Given the description of an element on the screen output the (x, y) to click on. 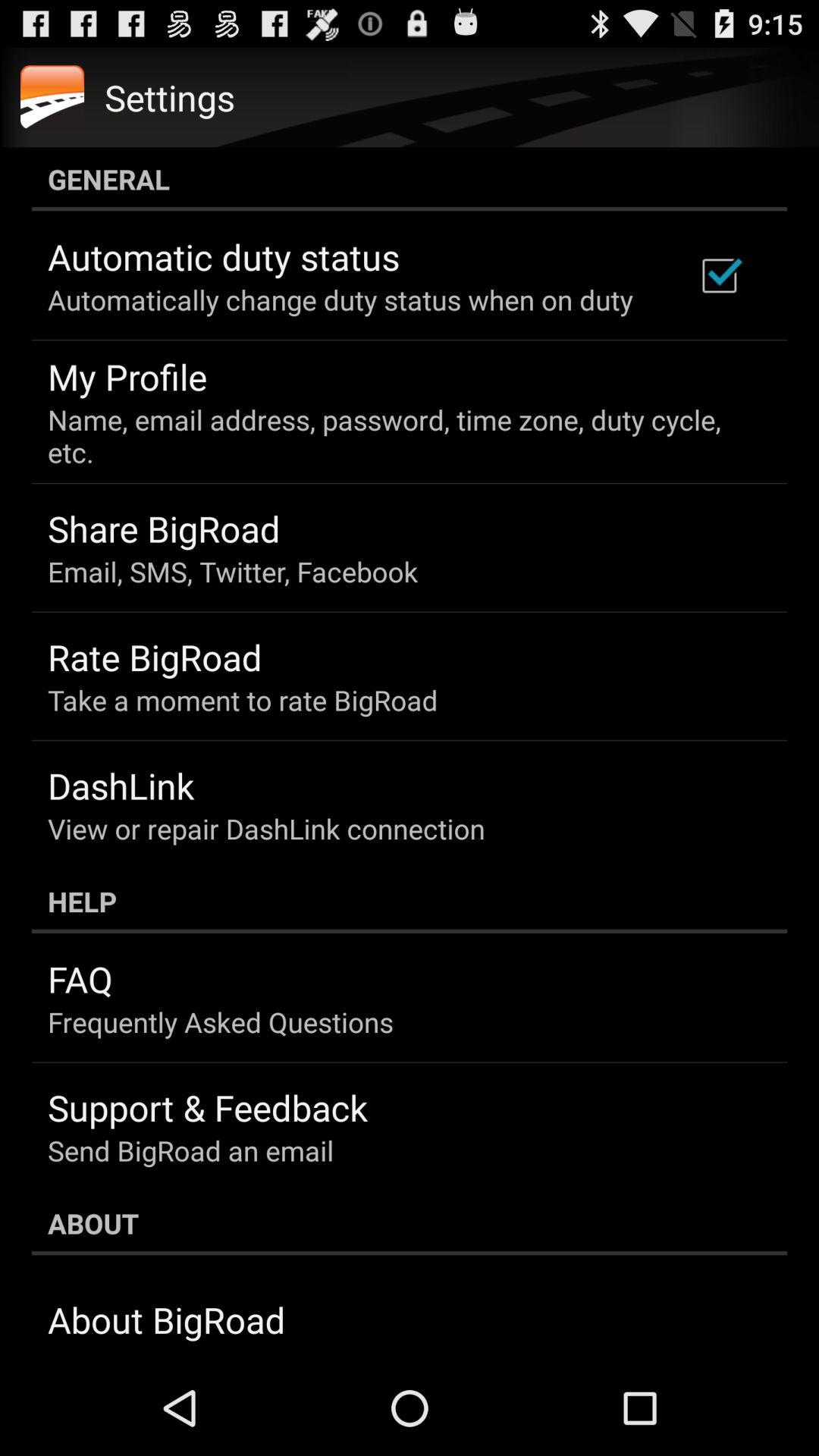
turn off the icon at the top right corner (719, 275)
